Given the description of an element on the screen output the (x, y) to click on. 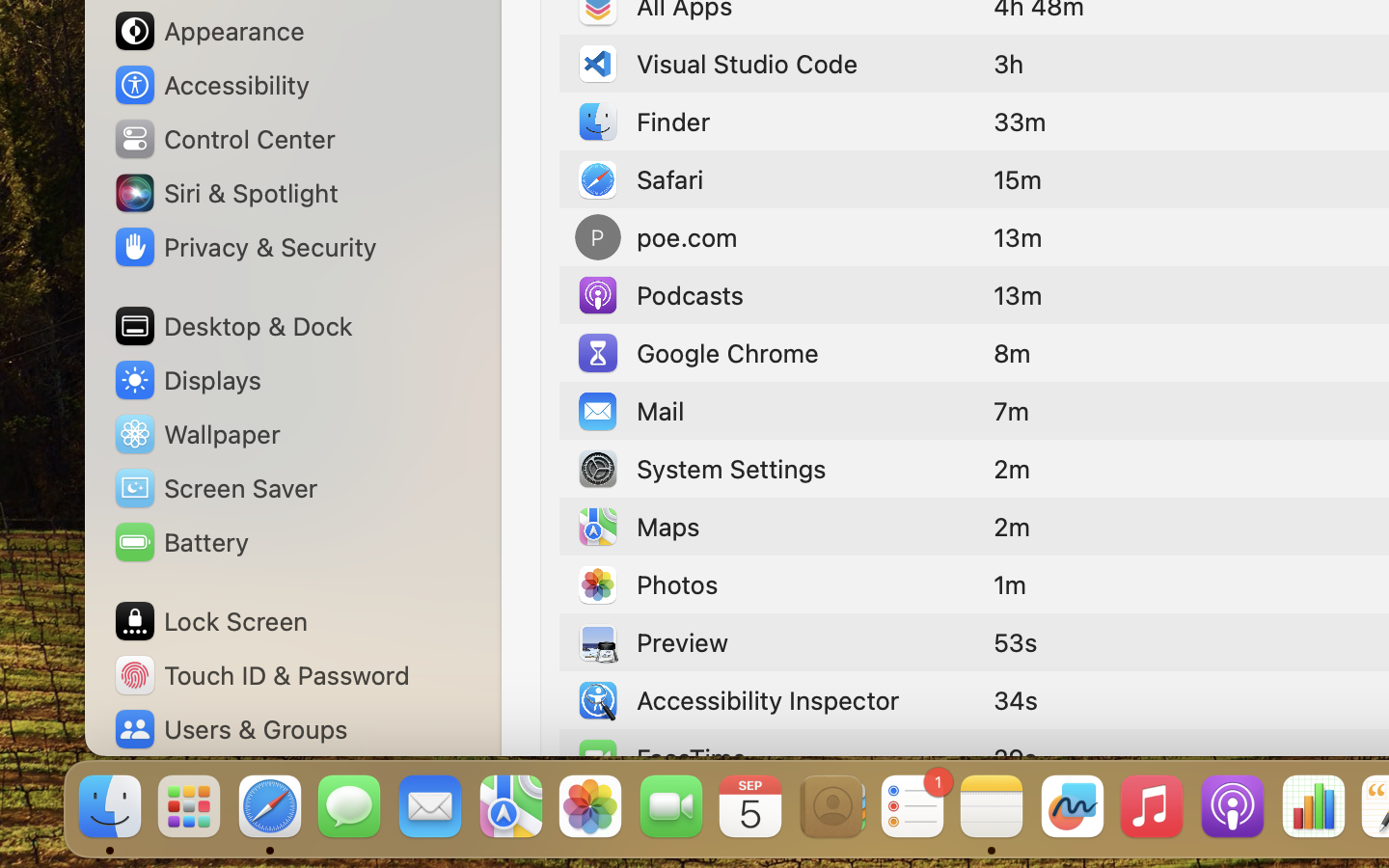
15m Element type: AXStaticText (1017, 178)
Accessibility Inspector Element type: AXStaticText (736, 700)
2m Element type: AXStaticText (1011, 526)
Google Chrome Element type: AXStaticText (696, 352)
29s Element type: AXStaticText (1015, 757)
